Given the description of an element on the screen output the (x, y) to click on. 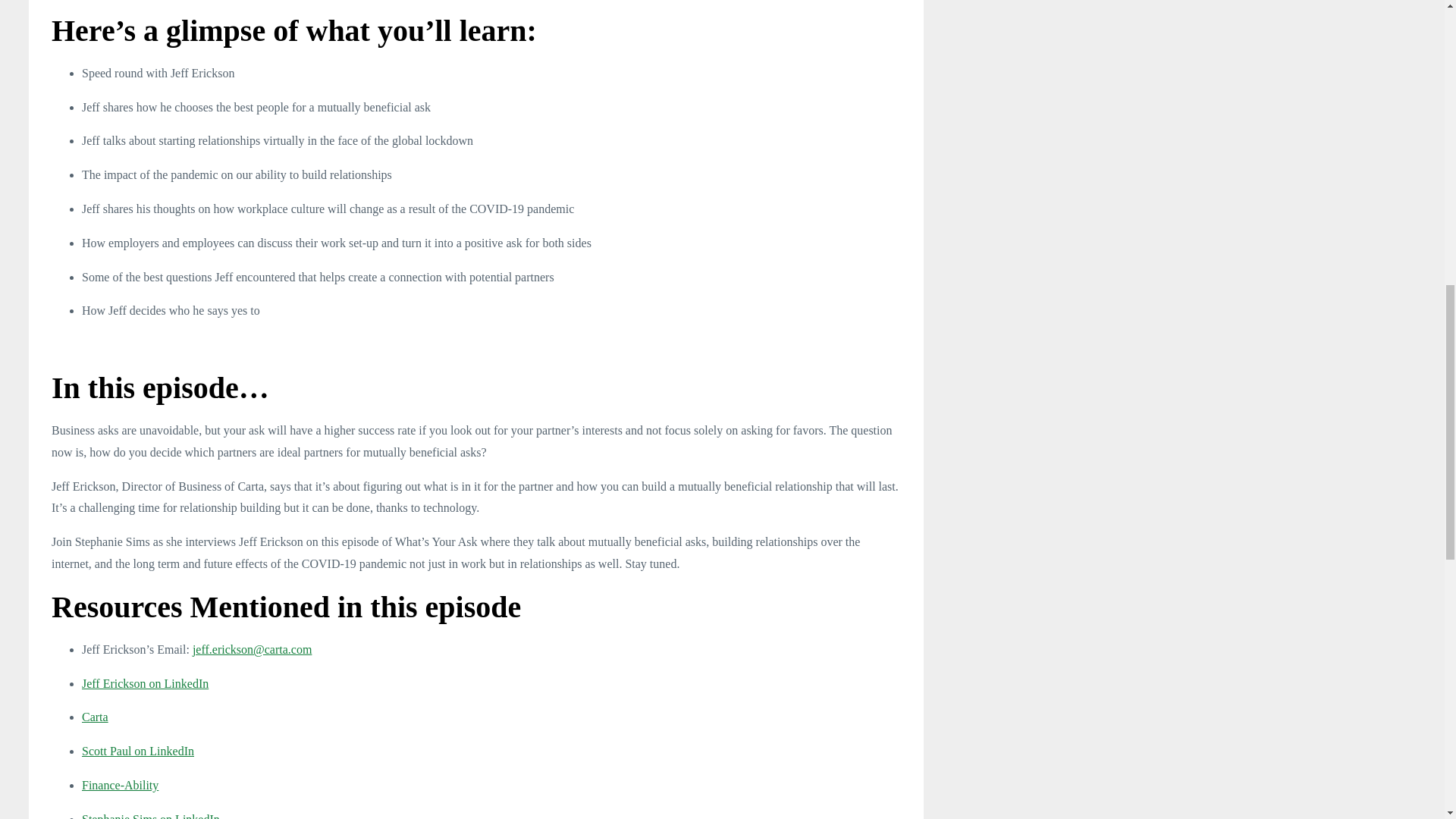
Carta (94, 716)
Scott Paul on LinkedIn (137, 750)
Stephanie Sims on LinkedIn (150, 816)
Finance-Ability (119, 784)
Jeff Erickson on LinkedIn (144, 682)
